Given the description of an element on the screen output the (x, y) to click on. 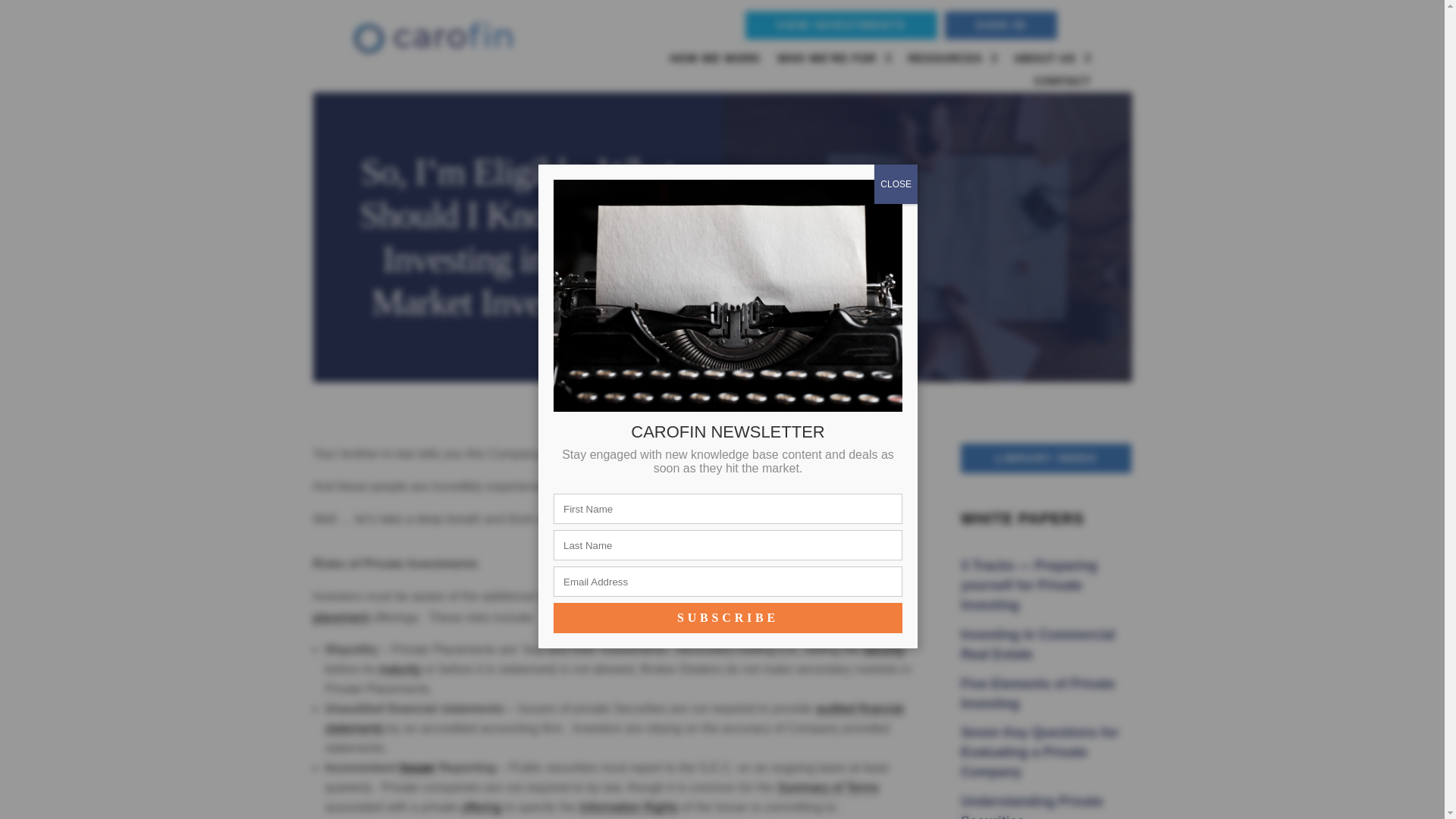
HOW WE WORK (714, 61)
RESOURCES (952, 61)
CONTACT (1061, 84)
ABOUT US (1051, 61)
SIGN IN (1000, 25)
logo (432, 37)
VIEW INVESTMENTS (841, 25)
